Given the description of an element on the screen output the (x, y) to click on. 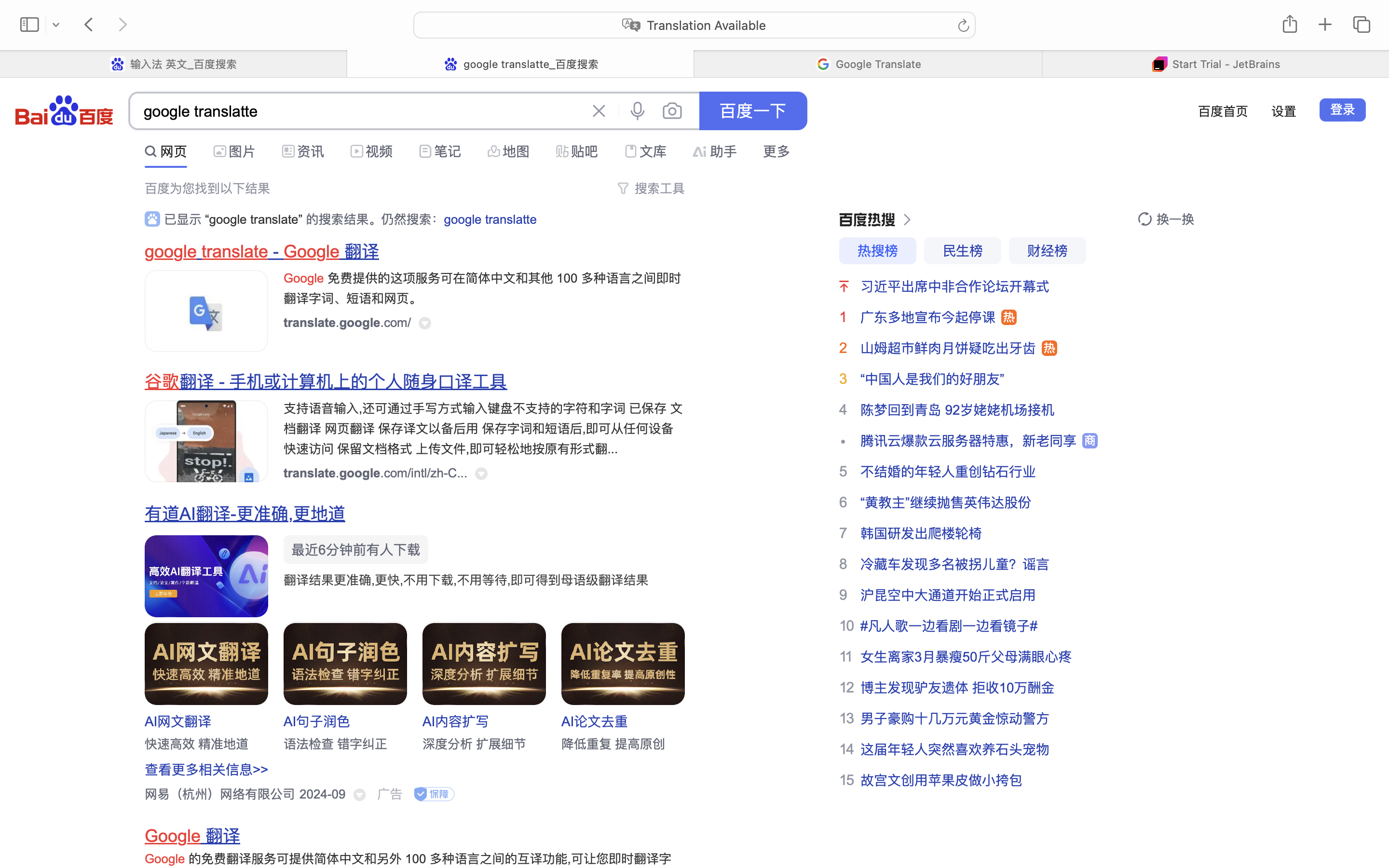
资讯 Element type: AXStaticText (310, 151)
AI网文翻译 Element type: AXStaticText (178, 721)
陈梦回到青岛 92岁姥姥机场接机 Element type: AXStaticText (957, 409)
5 Element type: AXStaticText (842, 470)
2024-09 Element type: AXStaticText (321, 793)
